Given the description of an element on the screen output the (x, y) to click on. 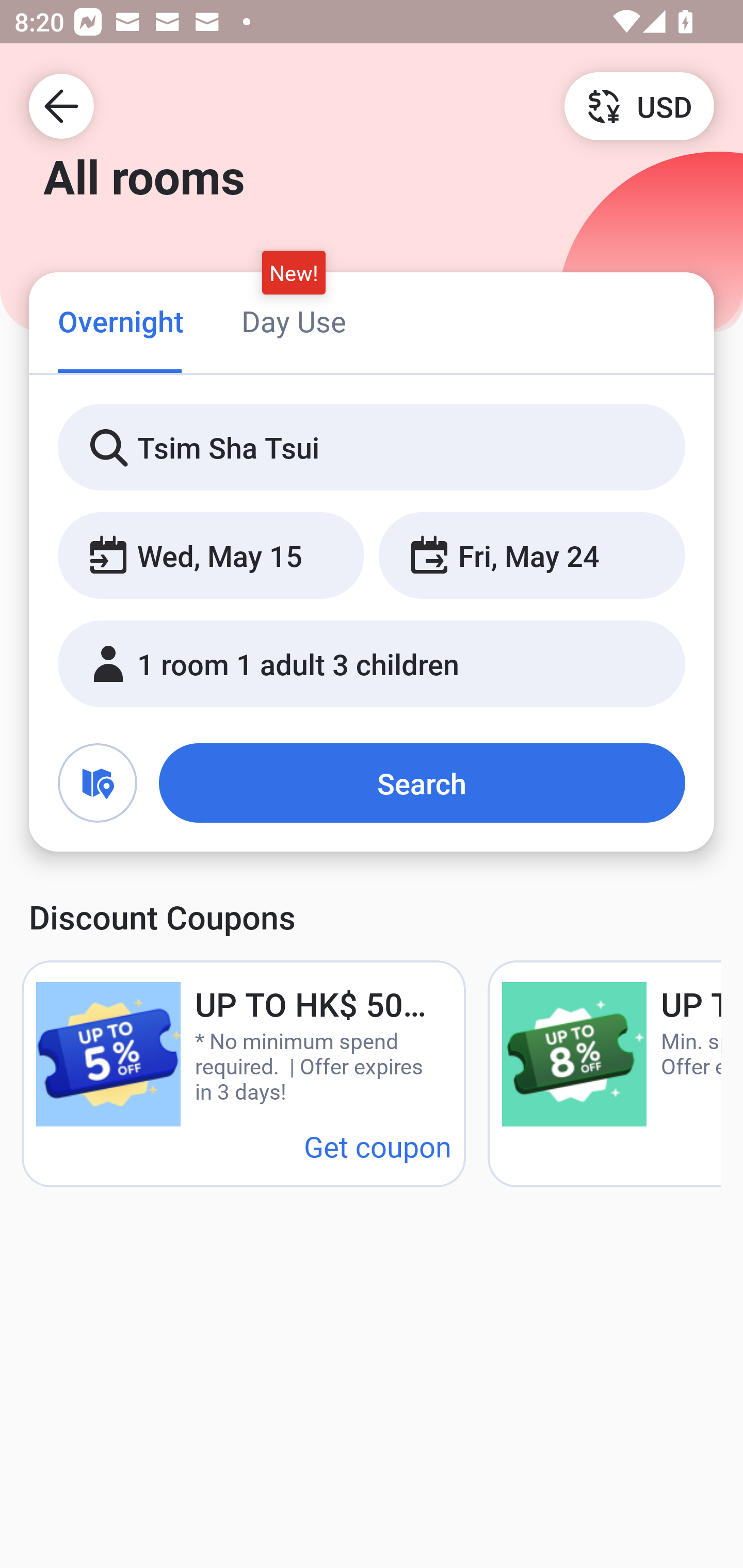
USD (639, 105)
New! (294, 272)
Day Use (293, 321)
Tsim Sha Tsui (371, 447)
Wed, May 15 (210, 555)
Fri, May 24 (531, 555)
1 room 1 adult 3 children (371, 663)
Search (422, 783)
Get coupon (377, 1146)
